Given the description of an element on the screen output the (x, y) to click on. 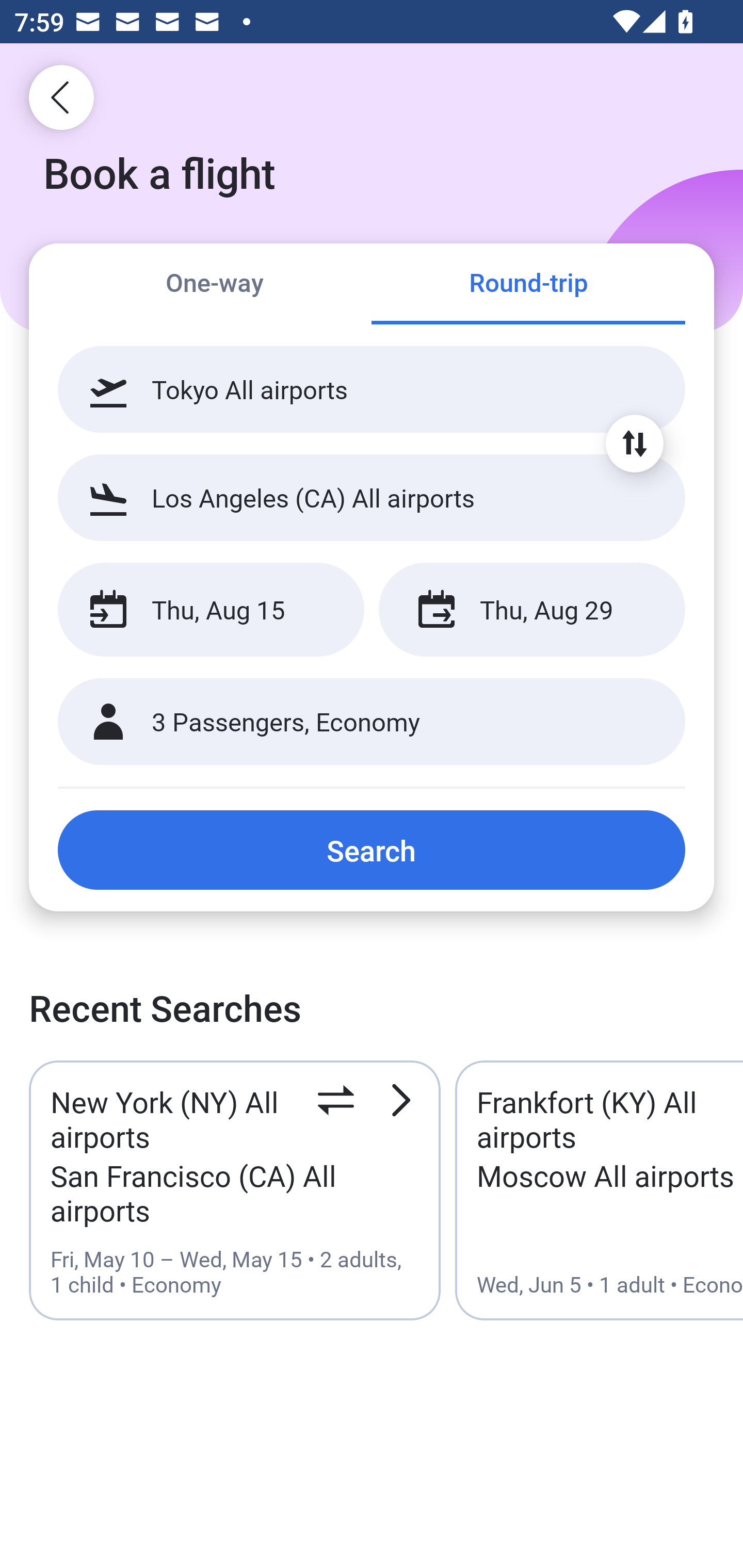
One-way (214, 284)
Tokyo All airports (371, 389)
Los Angeles (CA) All airports (371, 497)
Thu, Aug 15 (210, 609)
Thu, Aug 29 (531, 609)
3 Passengers, Economy (371, 721)
Search (371, 849)
